Given the description of an element on the screen output the (x, y) to click on. 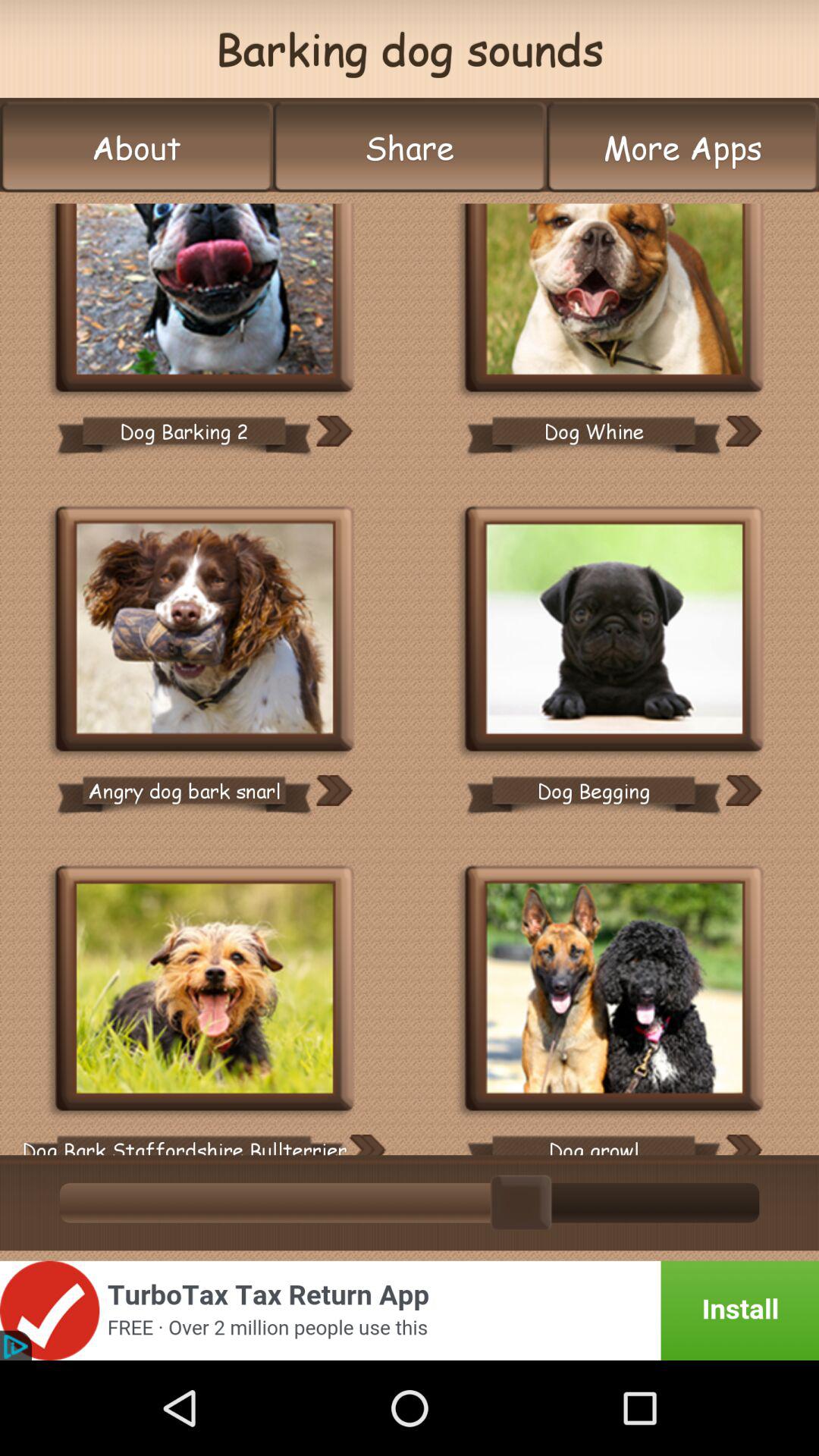
show more of selection (366, 1144)
